Given the description of an element on the screen output the (x, y) to click on. 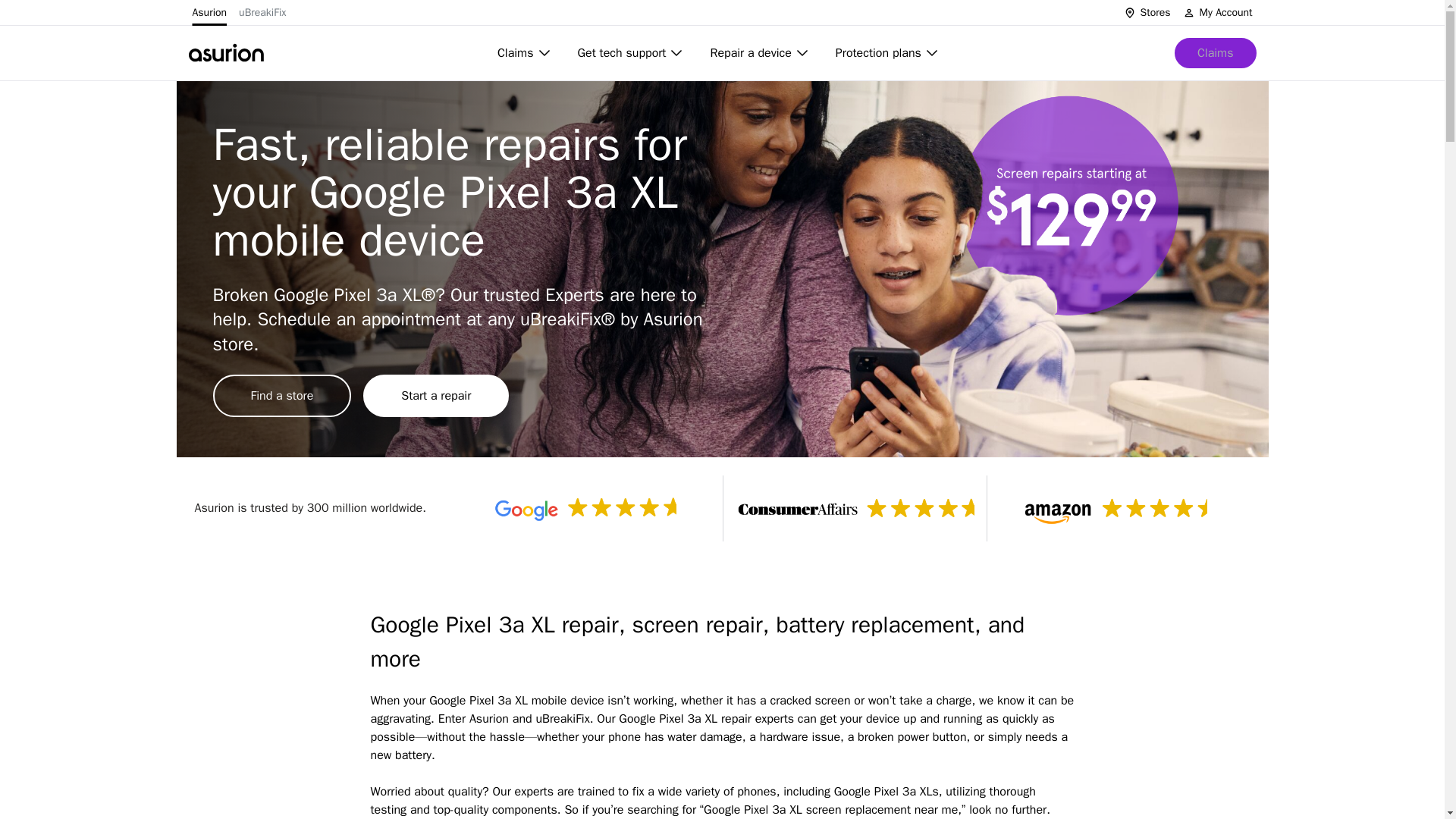
My Account (1217, 12)
Protection plans (888, 52)
uBreakiFix (261, 12)
Asurion (209, 12)
Get tech support (632, 52)
Repair a device (759, 52)
Claims (525, 52)
Claims (1215, 52)
Stores (1147, 12)
